Given the description of an element on the screen output the (x, y) to click on. 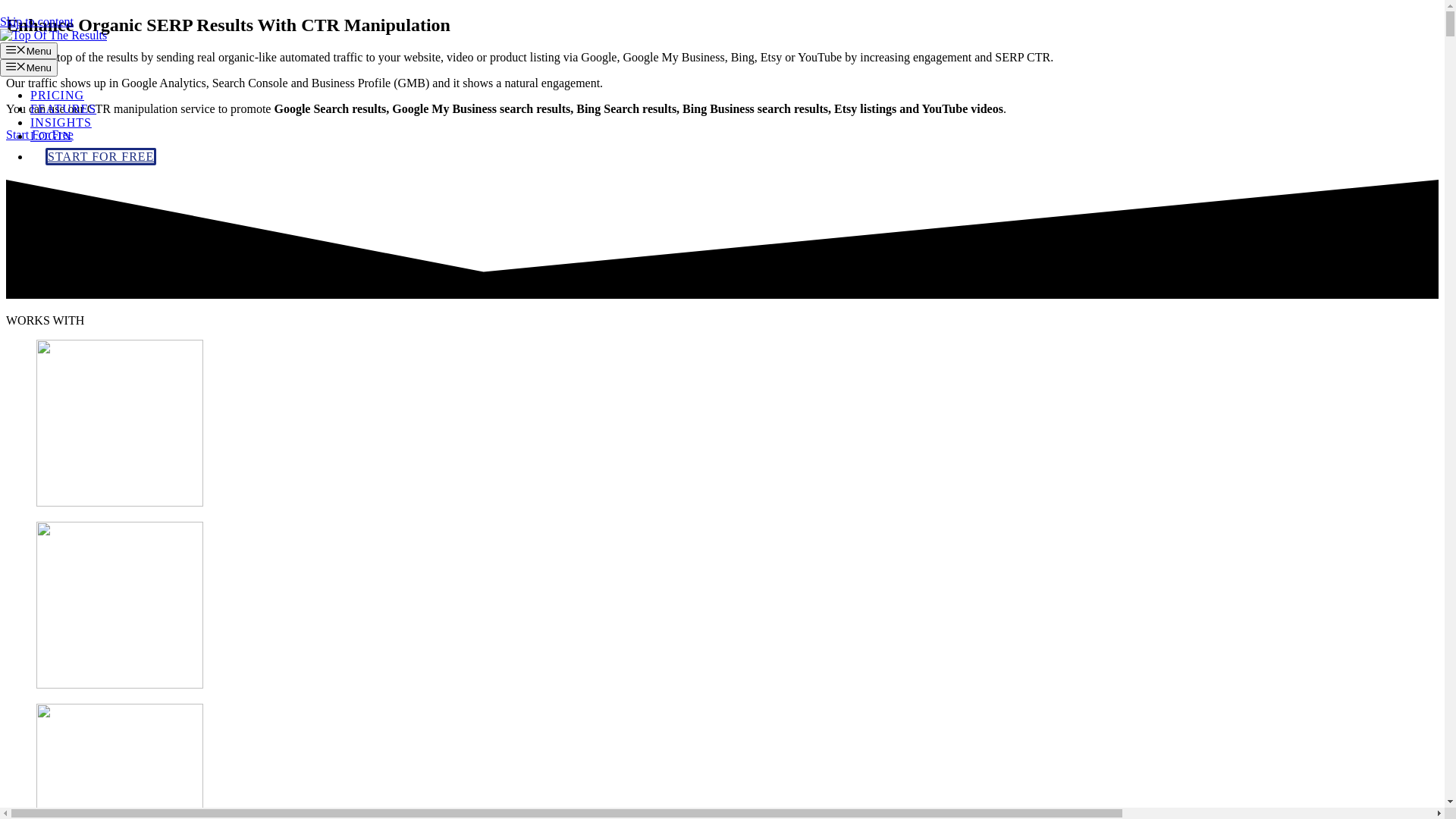
LOGIN Element type: text (51, 135)
INSIGHTS Element type: text (60, 122)
Start For Free Element type: text (39, 134)
START FOR FREE Element type: text (100, 156)
Menu Element type: text (28, 50)
FEATURES Element type: text (63, 108)
Skip to content Element type: text (36, 21)
PRICING Element type: text (57, 94)
Menu Element type: text (28, 67)
